Given the description of an element on the screen output the (x, y) to click on. 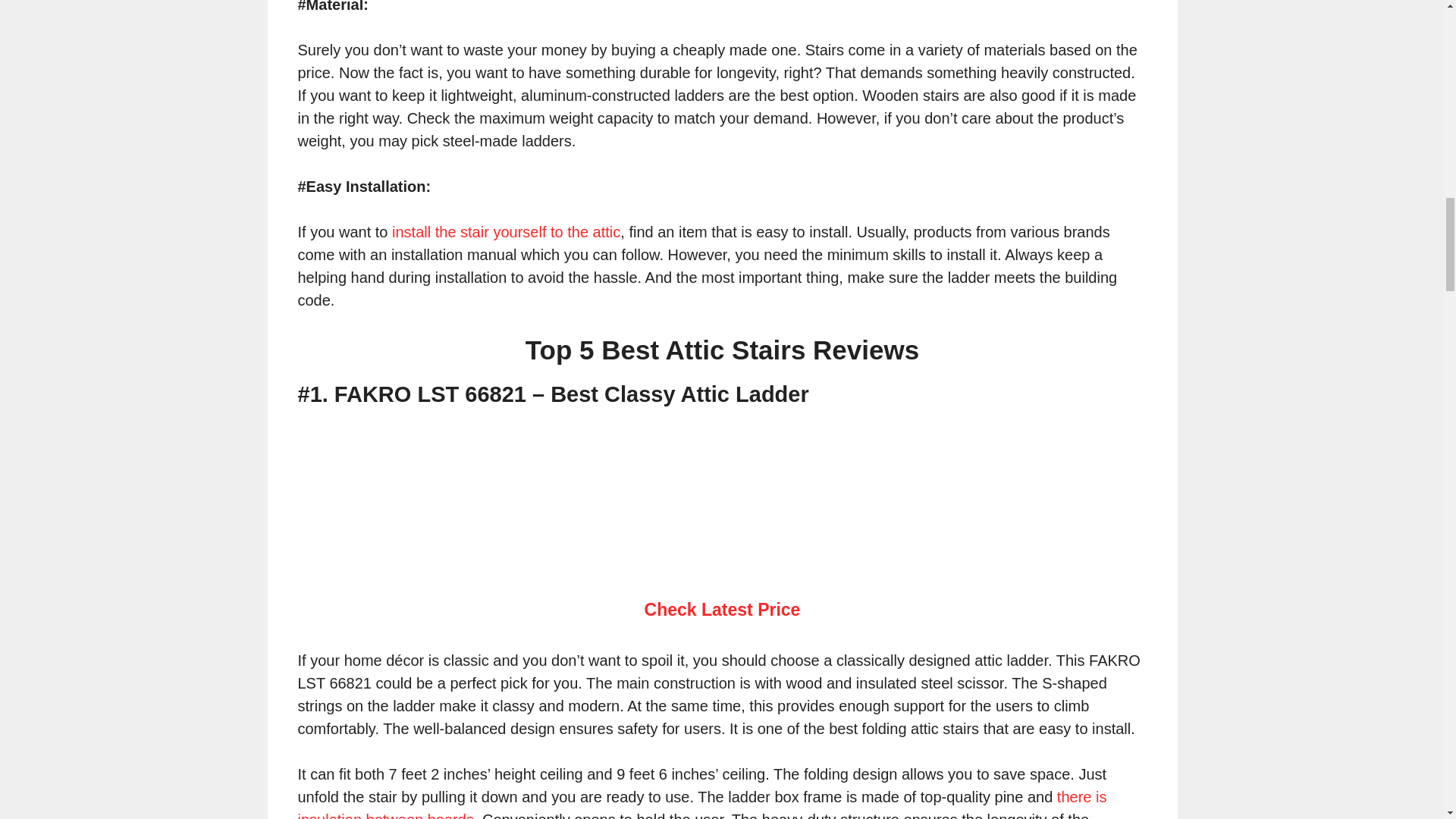
Check Latest Price (722, 609)
there is insulation between boards (701, 803)
install the stair yourself to the attic (505, 231)
